Given the description of an element on the screen output the (x, y) to click on. 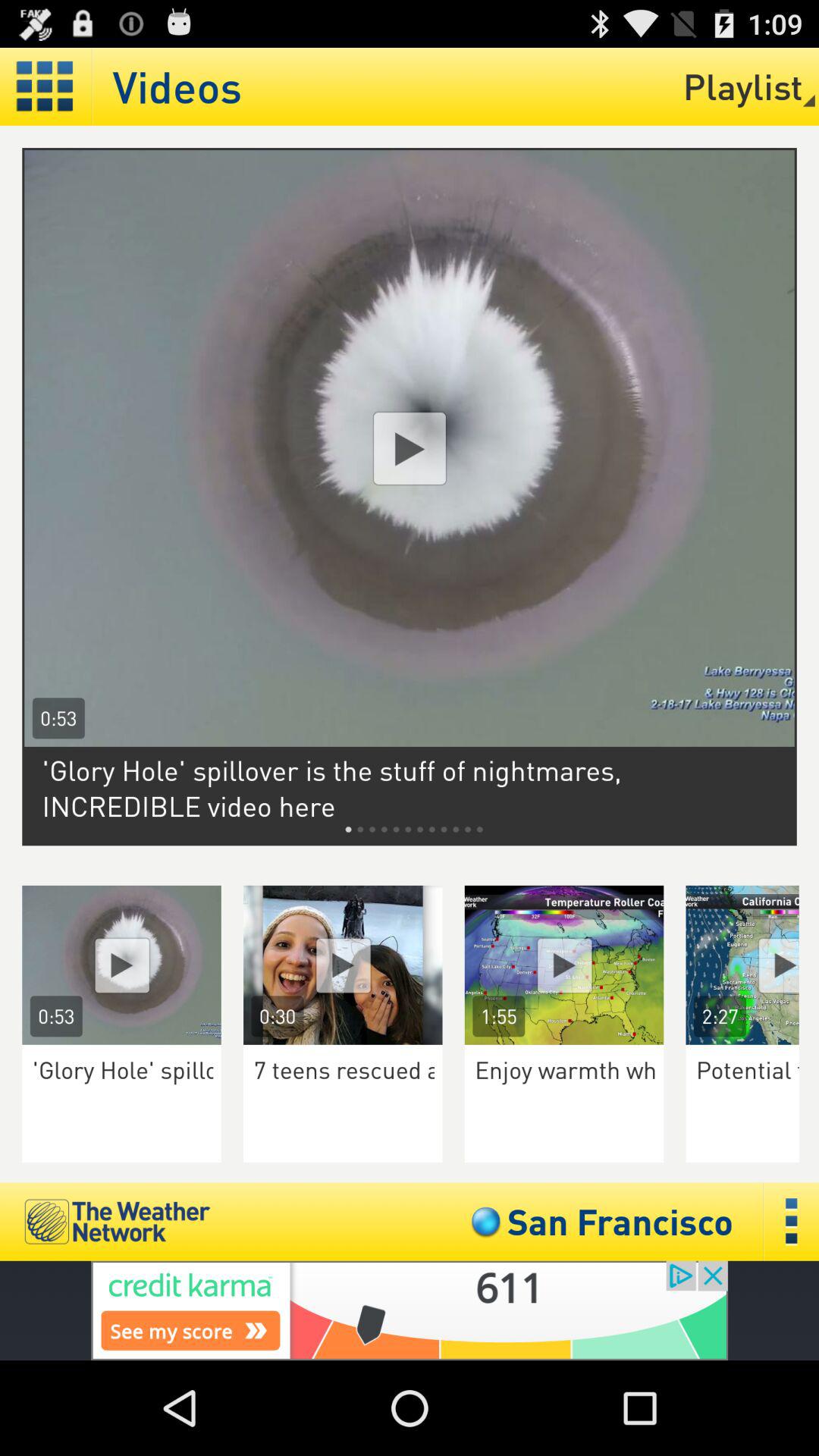
play video (409, 448)
